Given the description of an element on the screen output the (x, y) to click on. 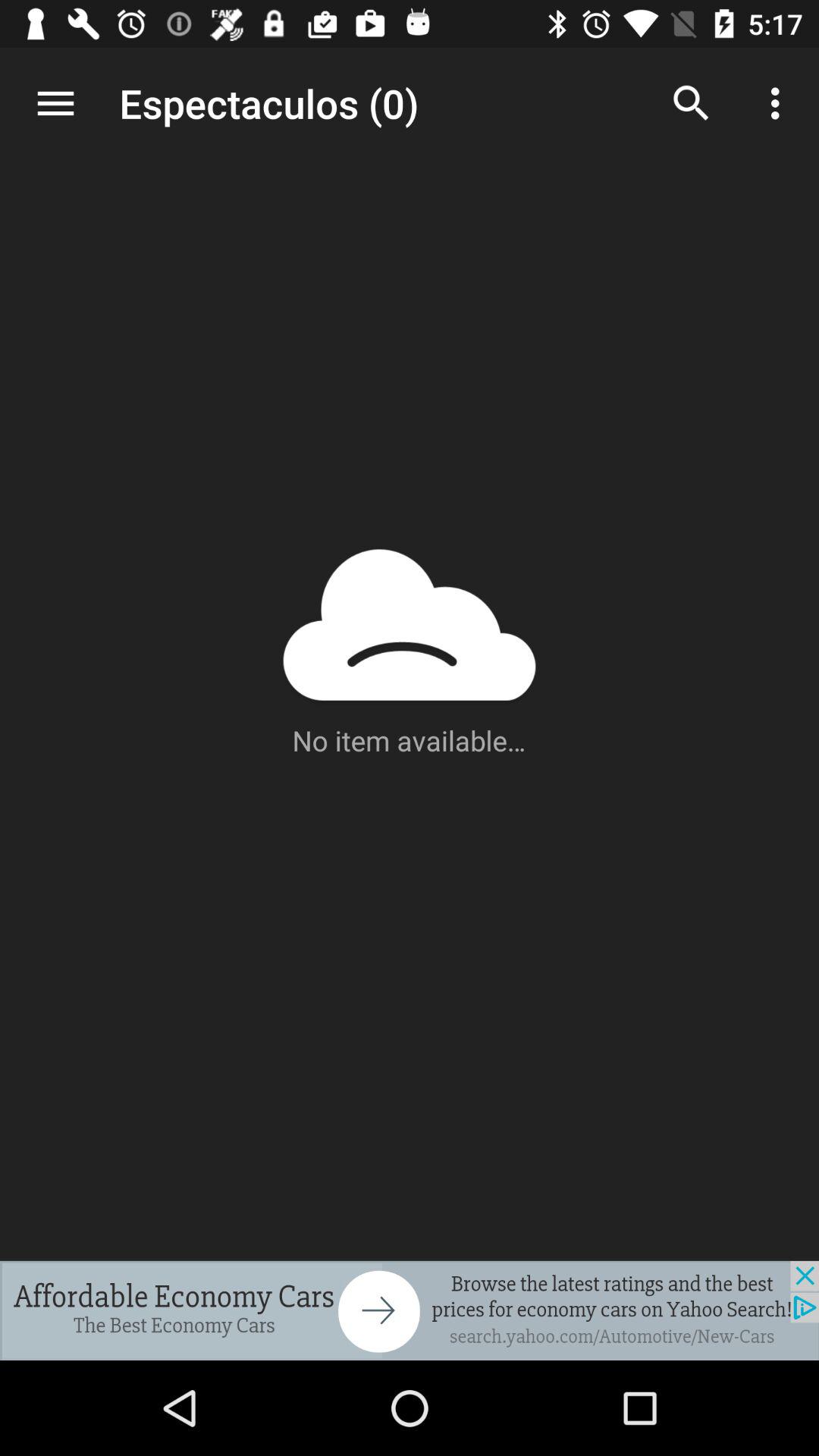
go to advertisement website (409, 1310)
